Given the description of an element on the screen output the (x, y) to click on. 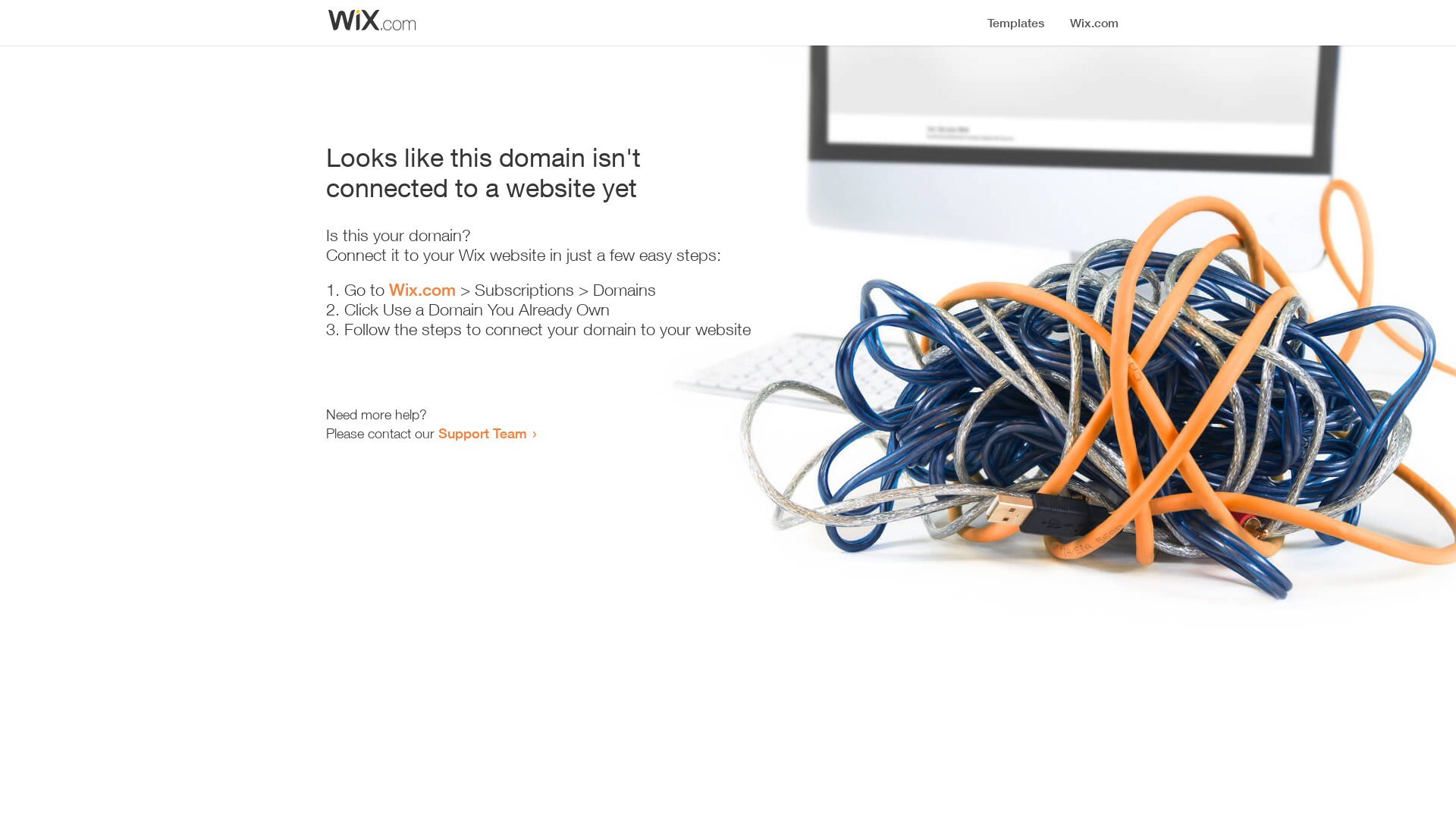
Support Team Element type: text (482, 432)
Wix.com Element type: text (422, 289)
